Given the description of an element on the screen output the (x, y) to click on. 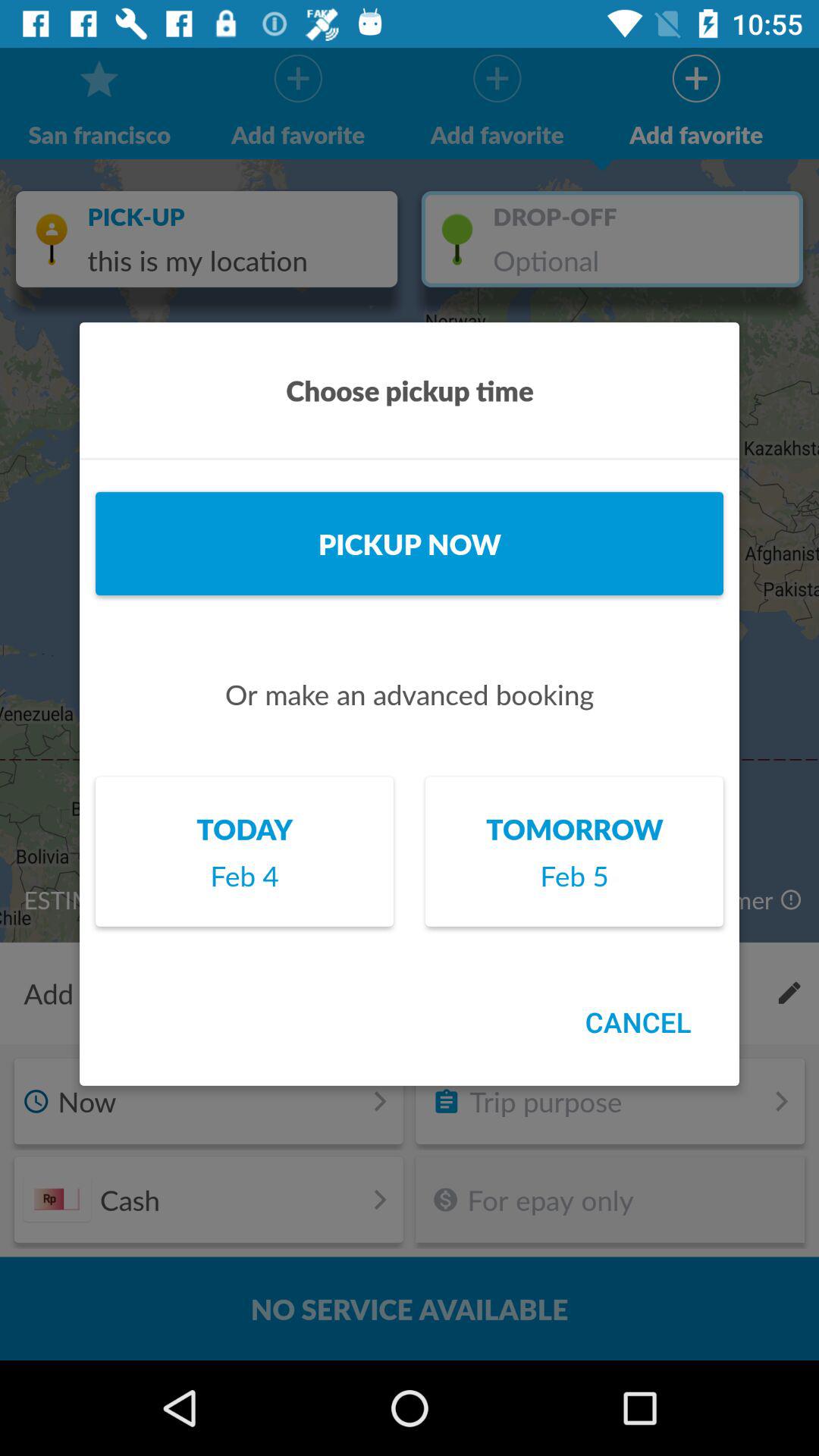
click the icon at the bottom right corner (638, 1021)
